Given the description of an element on the screen output the (x, y) to click on. 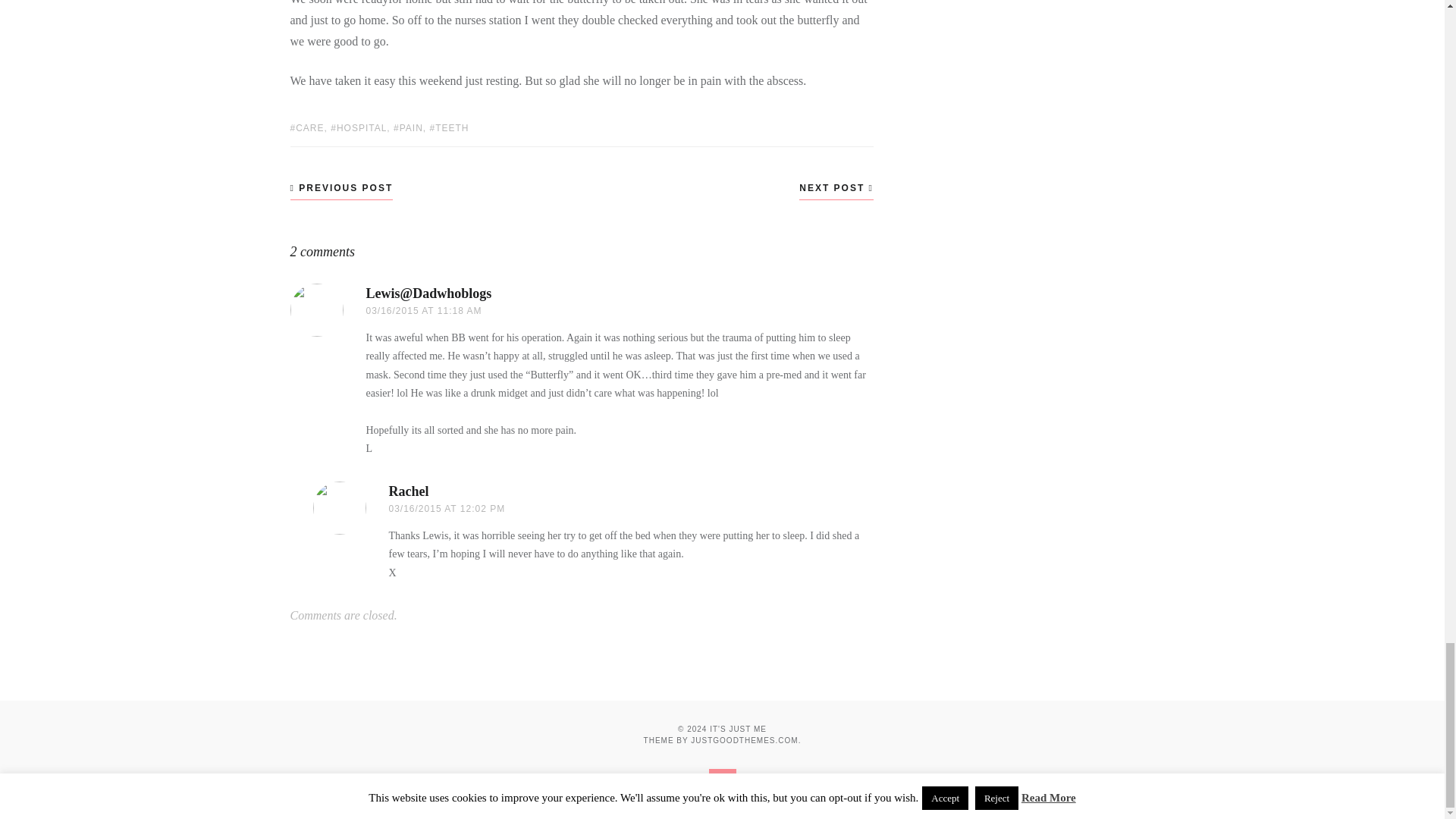
JUSTGOODTHEMES.COM (743, 740)
HOSPITAL (358, 127)
PAIN (408, 127)
BACK TO THE TOP (721, 782)
NEXT POST (836, 187)
IT'S JUST ME (738, 728)
TEETH (448, 127)
CARE (306, 127)
PREVIOUS POST (341, 187)
